Given the description of an element on the screen output the (x, y) to click on. 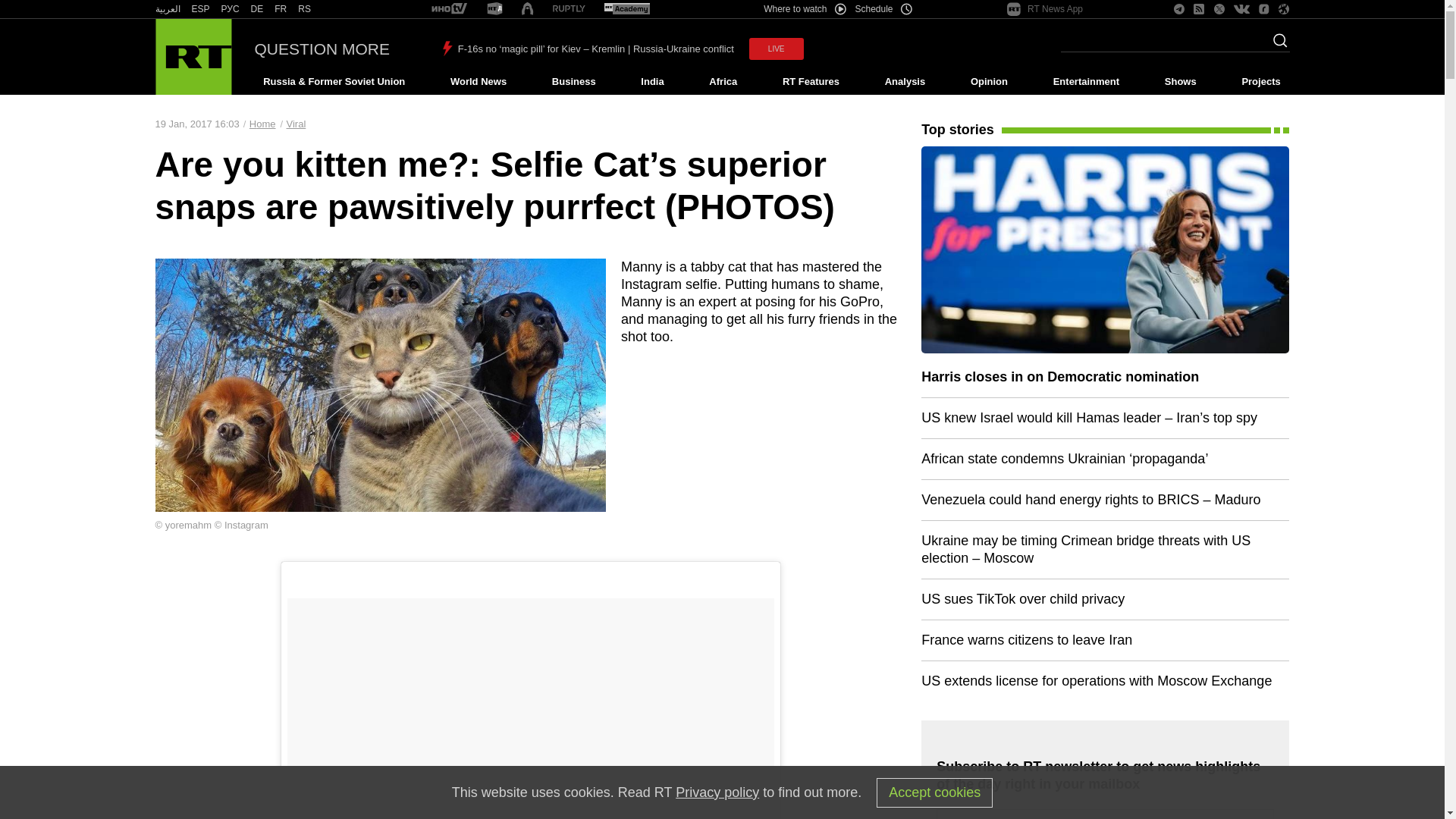
RT  (199, 9)
RT  (166, 9)
RT  (280, 9)
FR (280, 9)
Africa (722, 81)
Business (573, 81)
Analysis (905, 81)
India (651, 81)
Schedule (884, 9)
ESP (199, 9)
RT Features (810, 81)
Search (1276, 44)
RT  (230, 9)
RT  (494, 9)
RT News App (1045, 9)
